Given the description of an element on the screen output the (x, y) to click on. 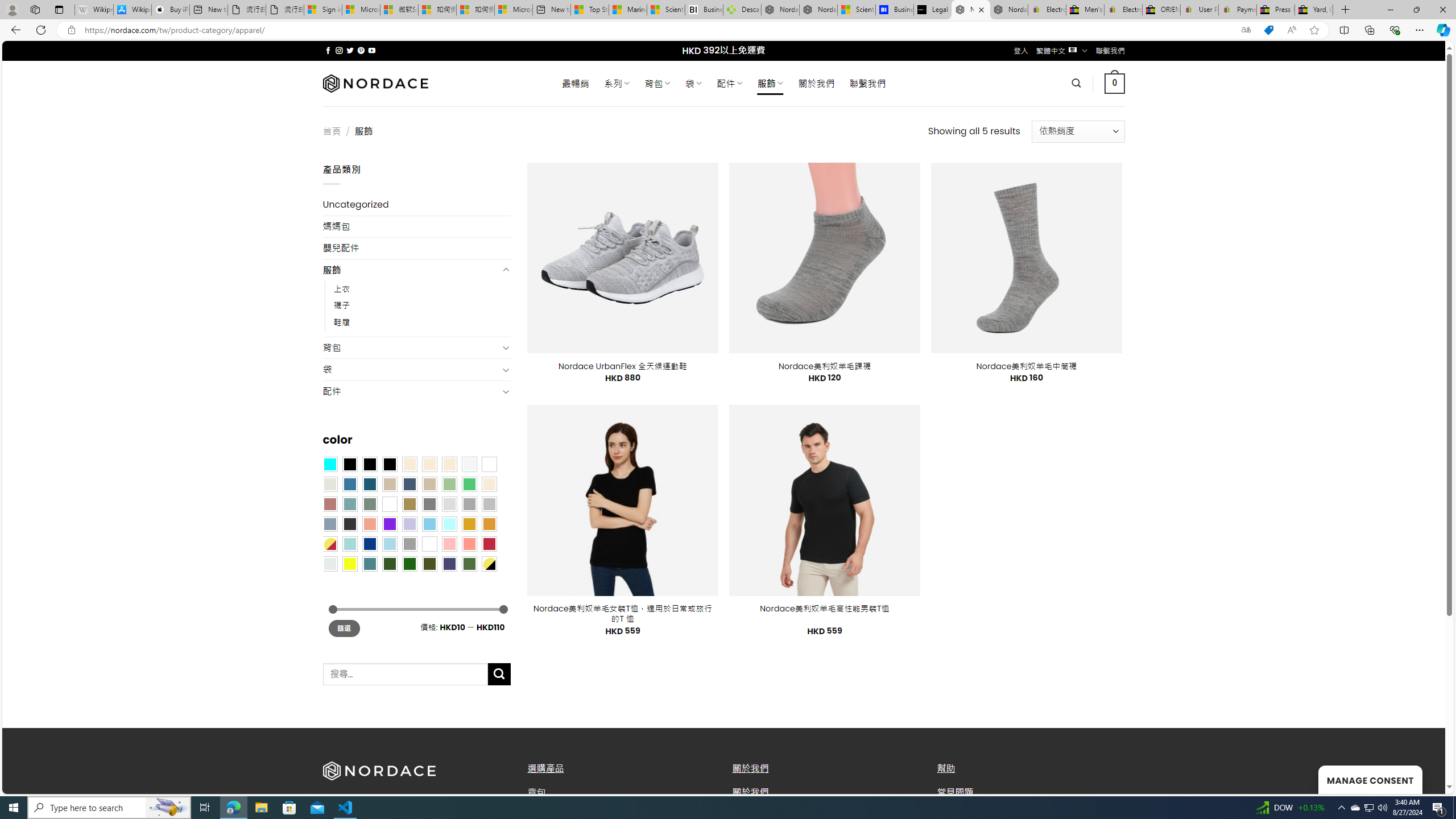
Dull Nickle (329, 563)
